Given the description of an element on the screen output the (x, y) to click on. 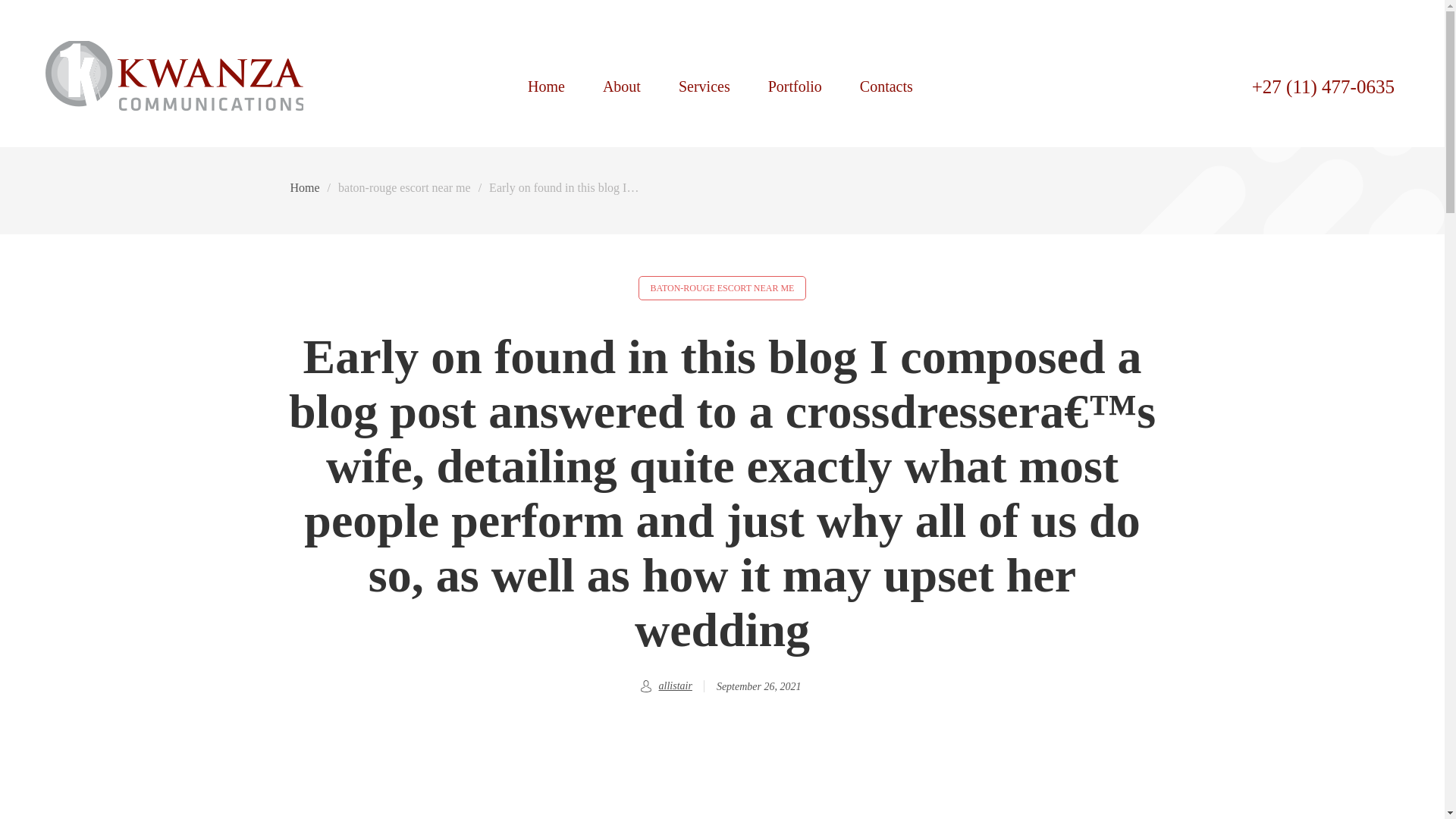
Services (703, 85)
allistair (676, 685)
Portfolio (794, 85)
Home (546, 85)
View all posts by allistair (676, 685)
Home (546, 85)
Home (303, 188)
About (621, 85)
BATON-ROUGE ESCORT NEAR ME (722, 288)
Home (173, 100)
baton-rouge escort near me (403, 188)
Contacts (886, 85)
